Given the description of an element on the screen output the (x, y) to click on. 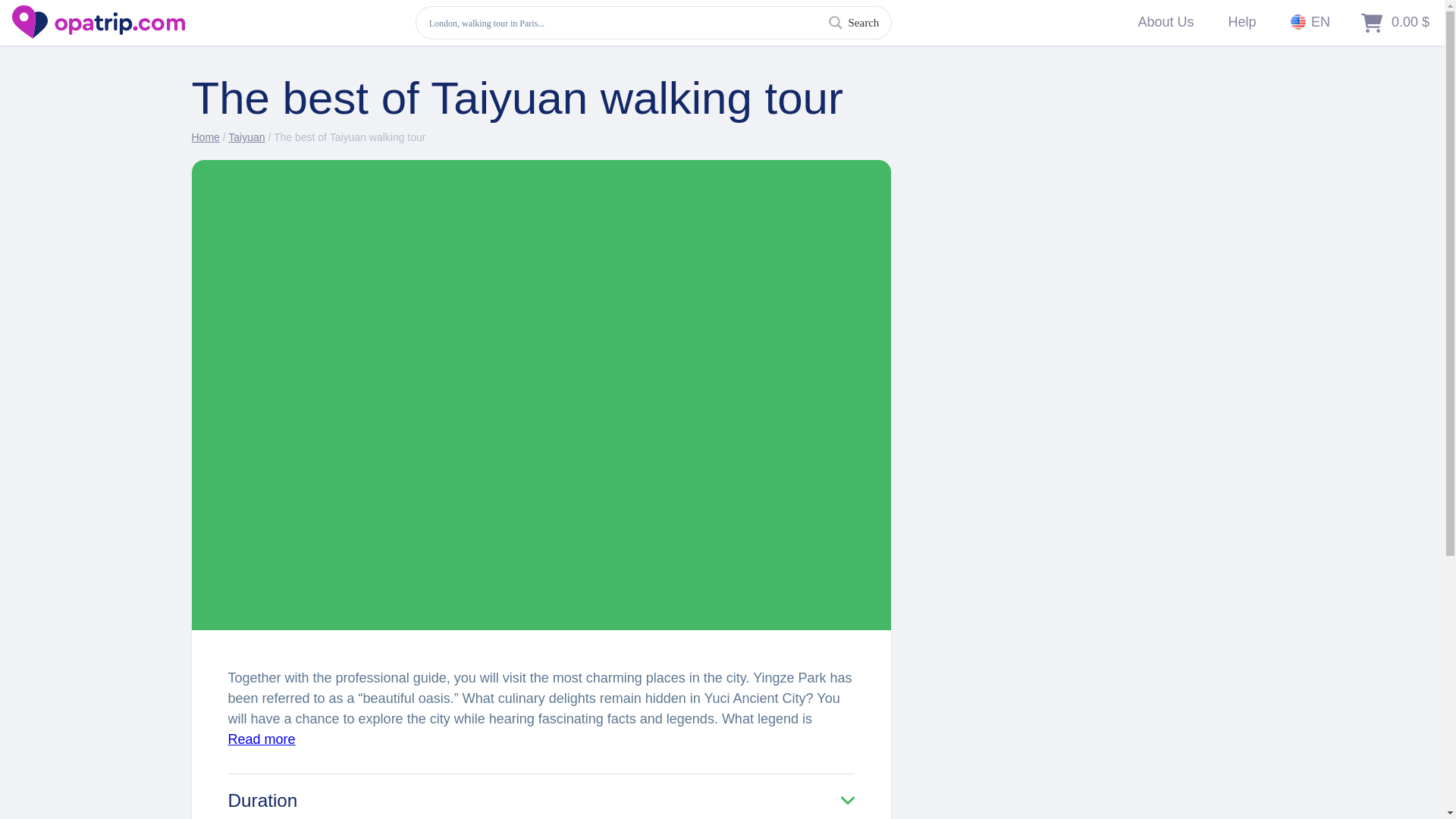
EN (1310, 22)
Home (204, 137)
About Us (1165, 22)
Taiyuan (246, 137)
Read more (261, 739)
English (1298, 21)
Help (1241, 22)
